Given the description of an element on the screen output the (x, y) to click on. 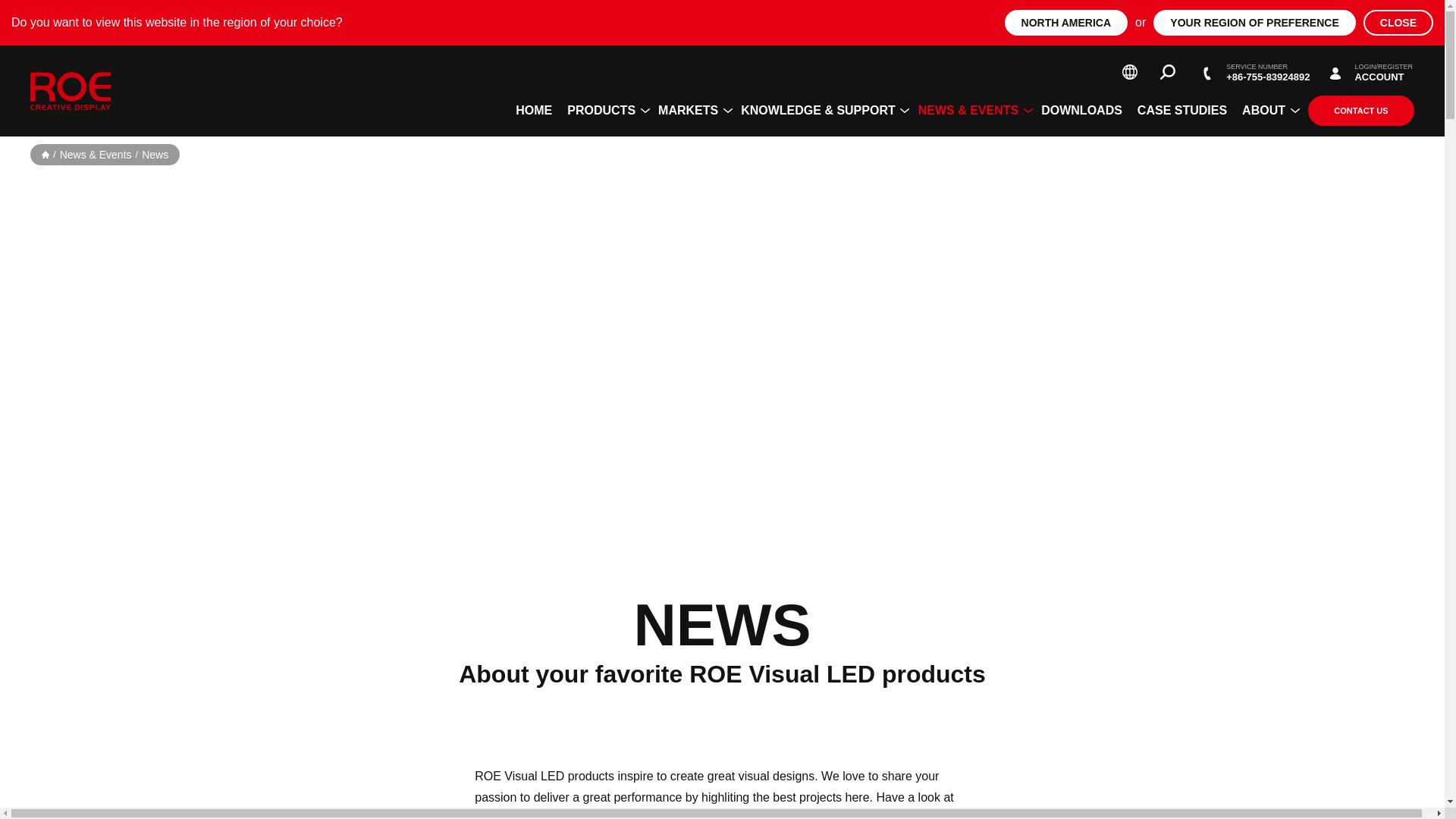
Select your region of preference (1129, 71)
Your region of preference (1254, 22)
Search (1167, 71)
Account (1366, 71)
PRODUCTS (604, 110)
YOUR REGION OF PREFERENCE (1254, 22)
SEARCH (1414, 19)
Select your region of preference (1129, 71)
CLOSE (1397, 22)
NORTH AMERICA (1065, 22)
